Given the description of an element on the screen output the (x, y) to click on. 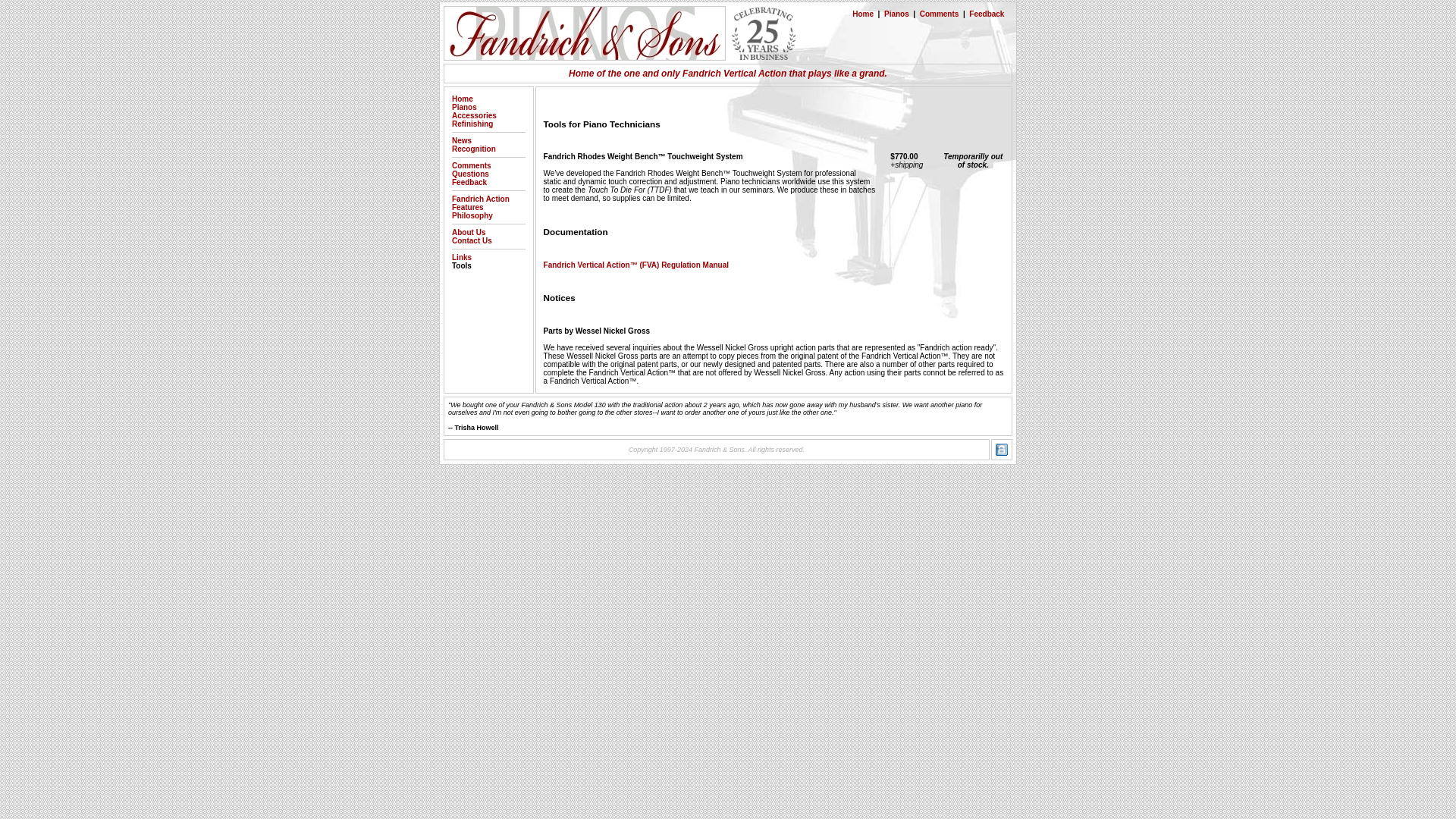
Contact Us (471, 240)
Features (467, 207)
Comments (939, 13)
Philosophy (472, 215)
Home (462, 99)
Feedback (986, 13)
Accessories (473, 115)
News (461, 140)
Pianos (895, 13)
Recognition (473, 148)
Questions (470, 173)
Refinishing (472, 123)
Comments (471, 165)
Fandrich Action (480, 198)
Home (862, 13)
